Given the description of an element on the screen output the (x, y) to click on. 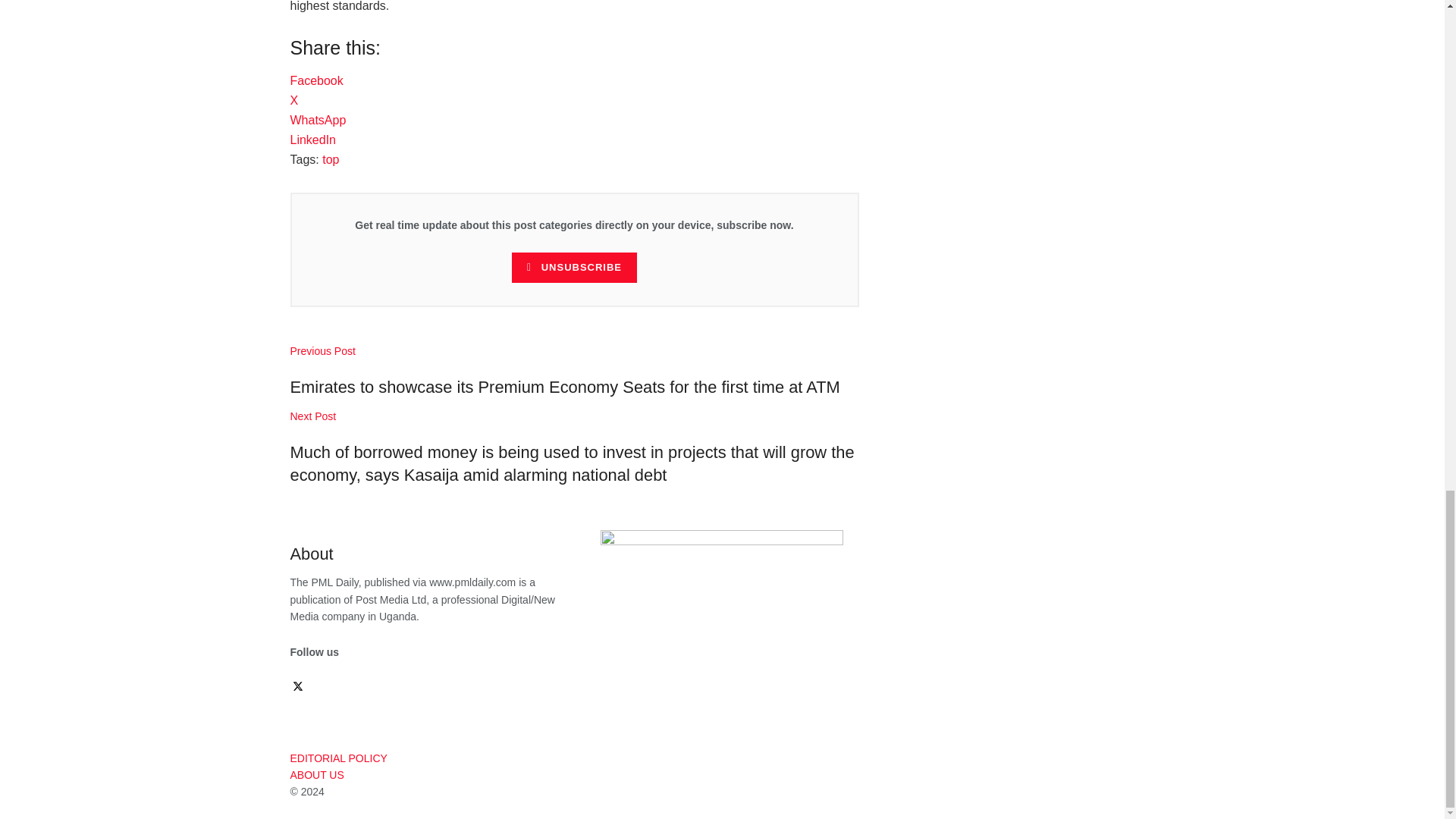
Click to share on LinkedIn (312, 139)
Click to share on WhatsApp (317, 119)
Click to share on Facebook (315, 80)
